Given the description of an element on the screen output the (x, y) to click on. 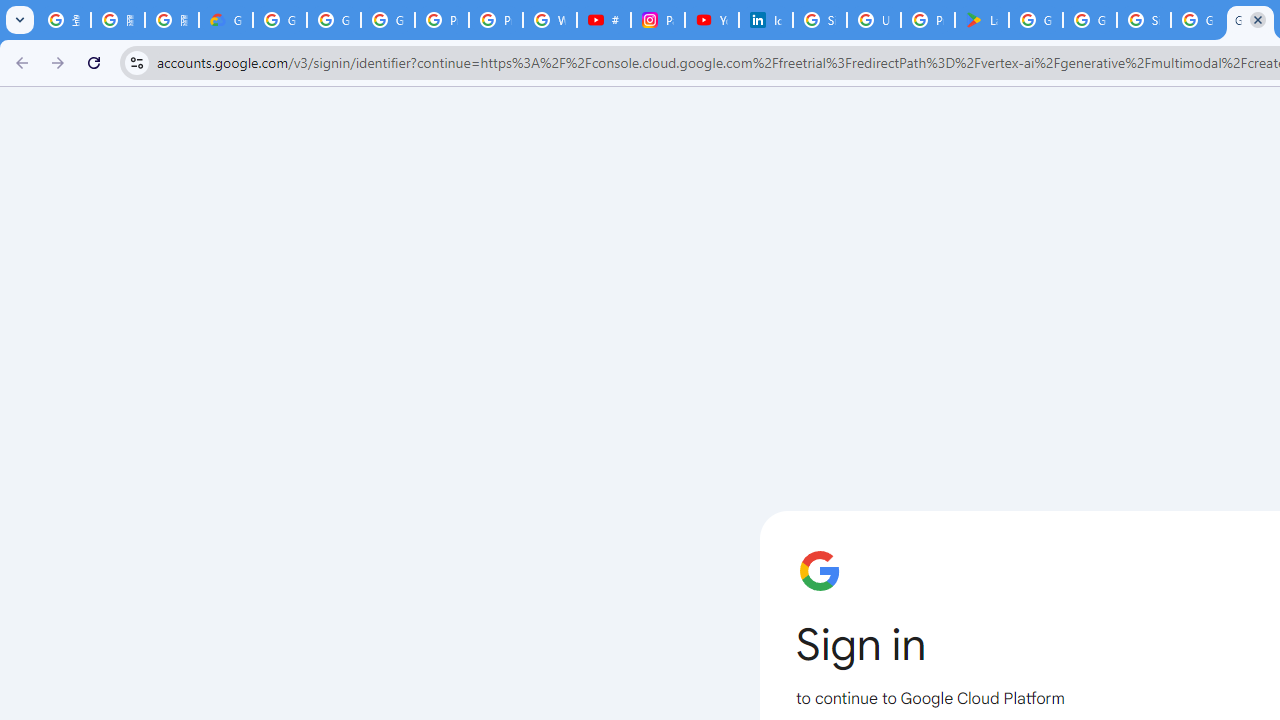
Privacy Help Center - Policies Help (495, 20)
#nbabasketballhighlights - YouTube (604, 20)
Google Workspace - Specific Terms (1089, 20)
